Given the description of an element on the screen output the (x, y) to click on. 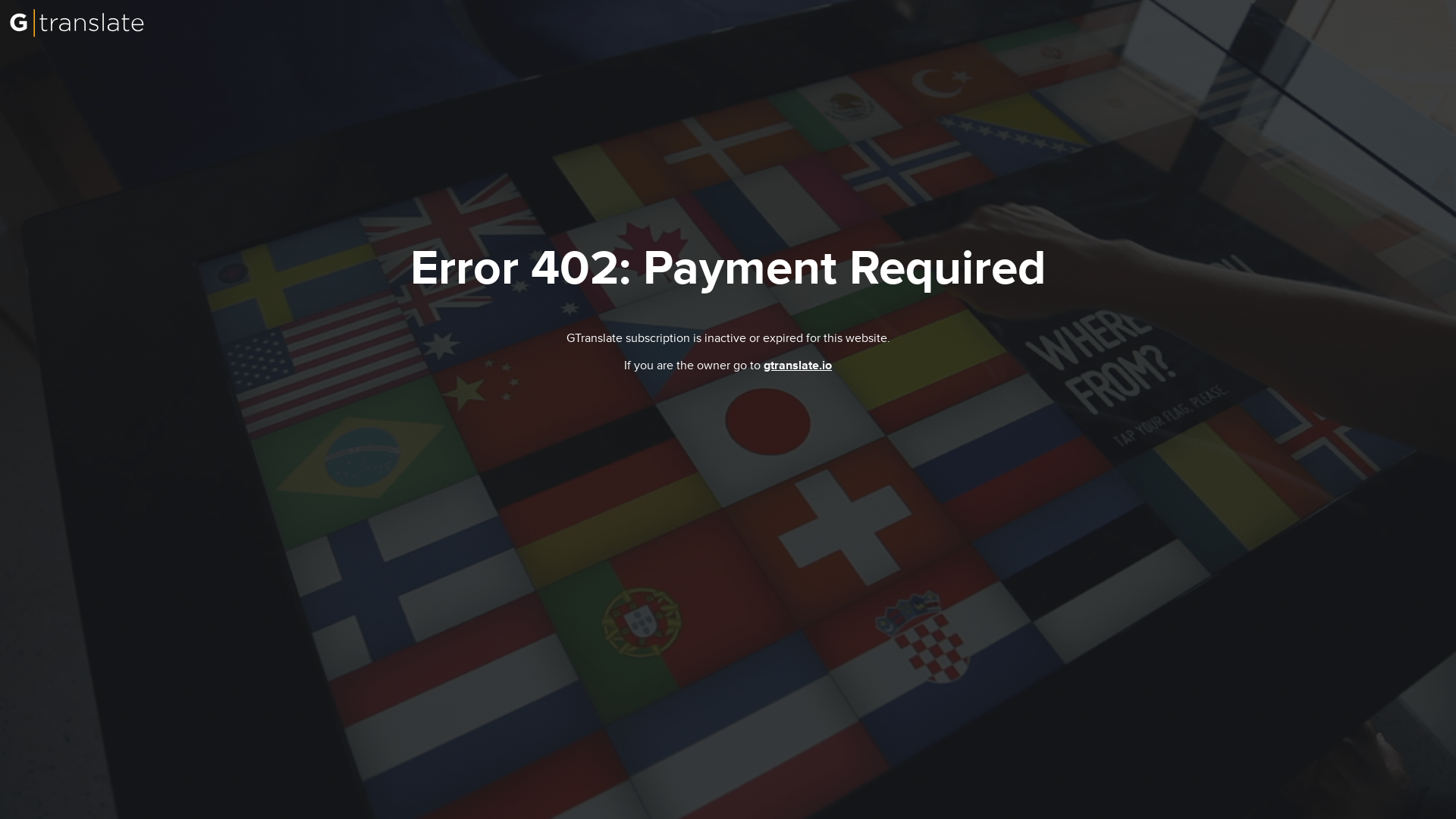
gtranslate.io Element type: text (797, 365)
